Given the description of an element on the screen output the (x, y) to click on. 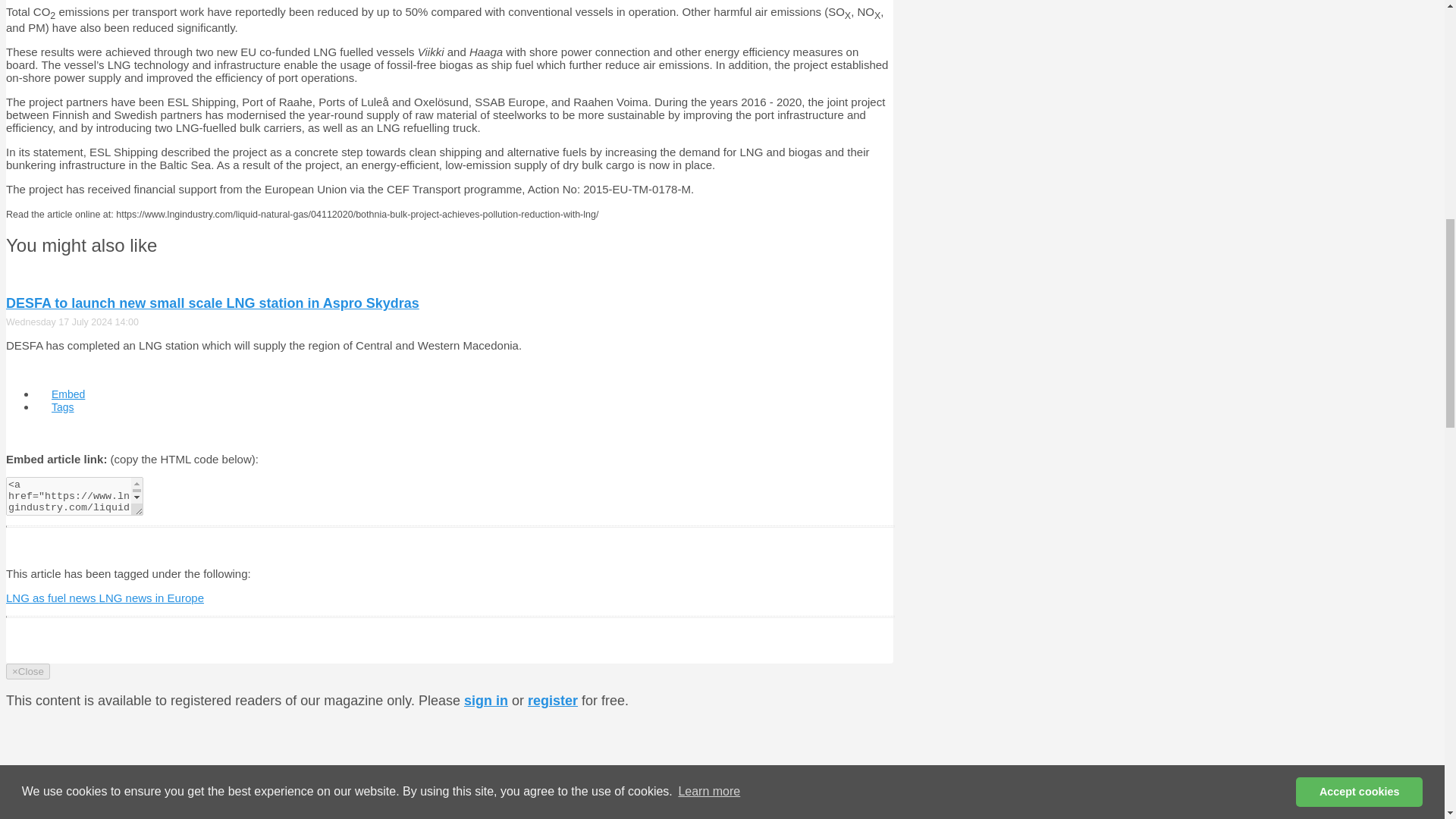
LNG news in Europe (151, 597)
DESFA to launch new small scale LNG station in Aspro Skydras (212, 303)
Tags (62, 406)
LNG as fuel news (52, 597)
register (552, 700)
sign in (486, 700)
Embed (68, 393)
3rd party ad content (774, 739)
